Given the description of an element on the screen output the (x, y) to click on. 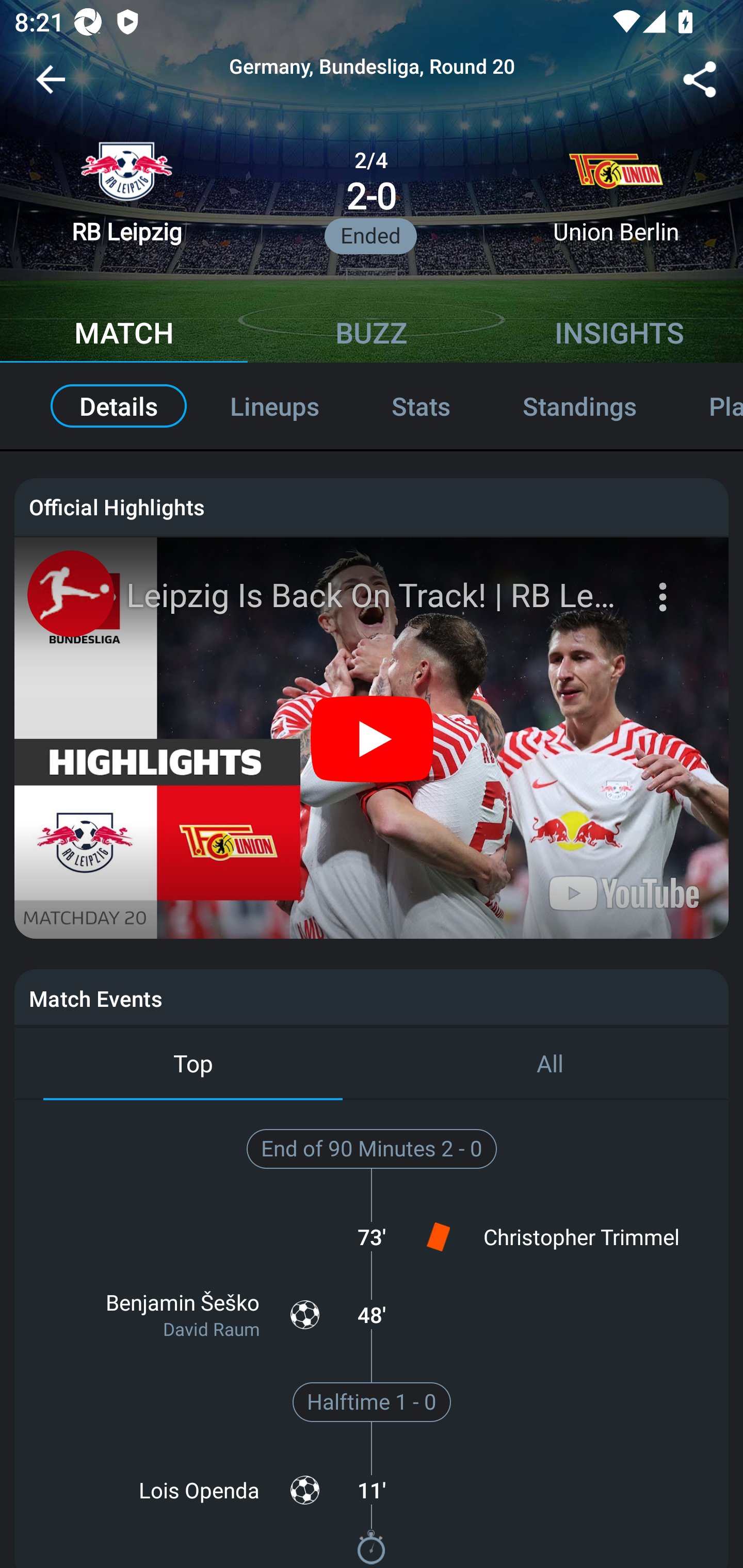
Navigate up (50, 86)
Germany, Bundesliga, Round 20 (371, 66)
Share (699, 82)
RB Leipzig (126, 192)
Union Berlin (616, 192)
MATCH (123, 335)
BUZZ (371, 335)
INSIGHTS (619, 335)
Lineups (274, 406)
Stats (420, 406)
Standings (579, 406)
Play by Play (708, 406)
Official Highlights (371, 507)
More (665, 585)
Photo image of Bundesliga (70, 593)
Play (372, 738)
All (549, 1064)
73' Christopher Trimmel (371, 1235)
Christopher Trimmel (562, 1235)
Benjamin Šeško David Raum 48' (371, 1313)
Benjamin Šeško David Raum (180, 1313)
Lois Openda 11' (371, 1489)
Lois Openda (180, 1489)
